Given the description of an element on the screen output the (x, y) to click on. 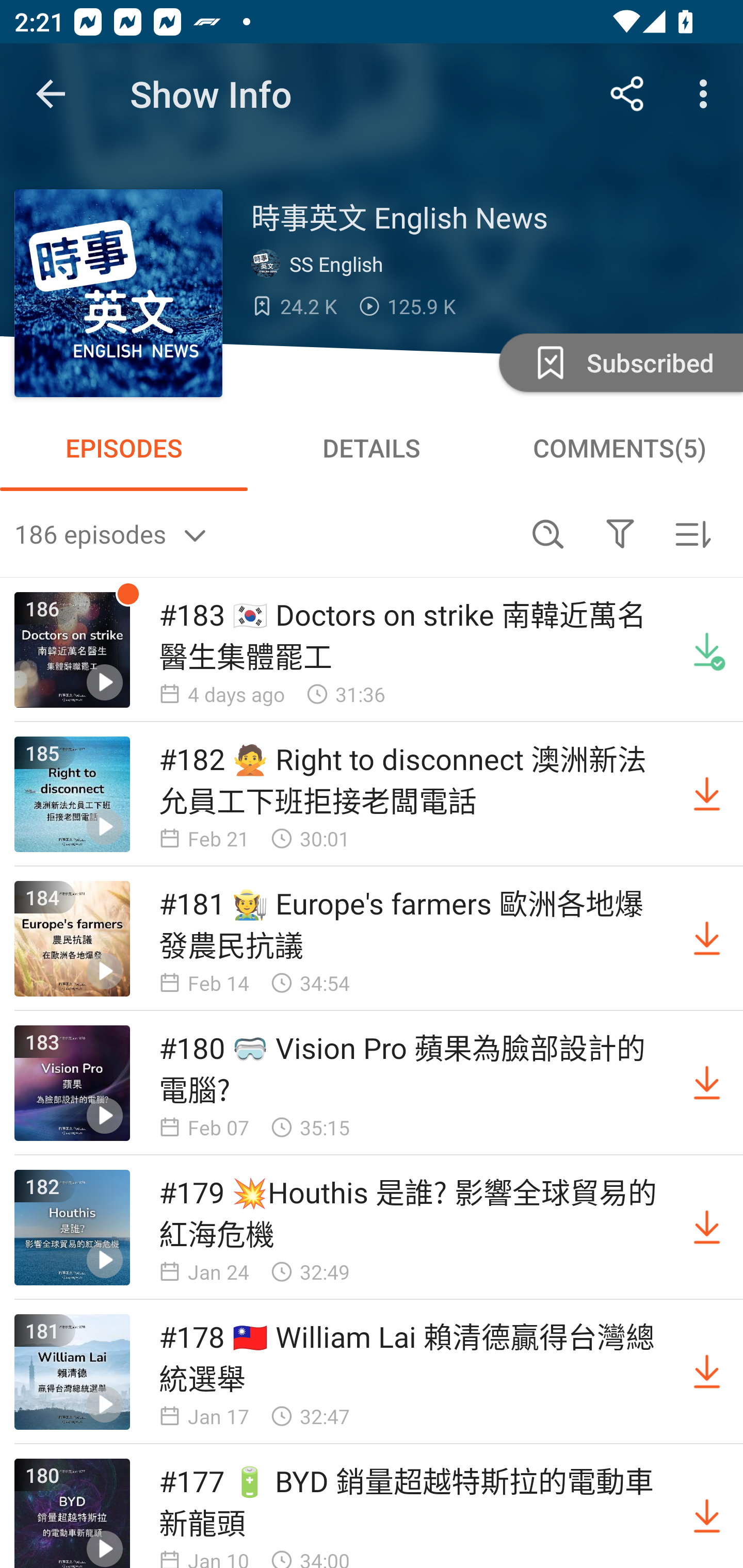
Navigate up (50, 93)
Share (626, 93)
More options (706, 93)
SS English (321, 263)
Unsubscribe Subscribed (619, 361)
EPISODES (123, 447)
DETAILS (371, 447)
COMMENTS(5) (619, 447)
186 episodes  (262, 533)
 Search (547, 533)
 (619, 533)
 Sorted by newest first (692, 533)
Downloaded (706, 649)
Download (706, 793)
Download (706, 939)
Download (706, 1083)
Download (706, 1227)
Download (706, 1371)
Download (706, 1513)
